Given the description of an element on the screen output the (x, y) to click on. 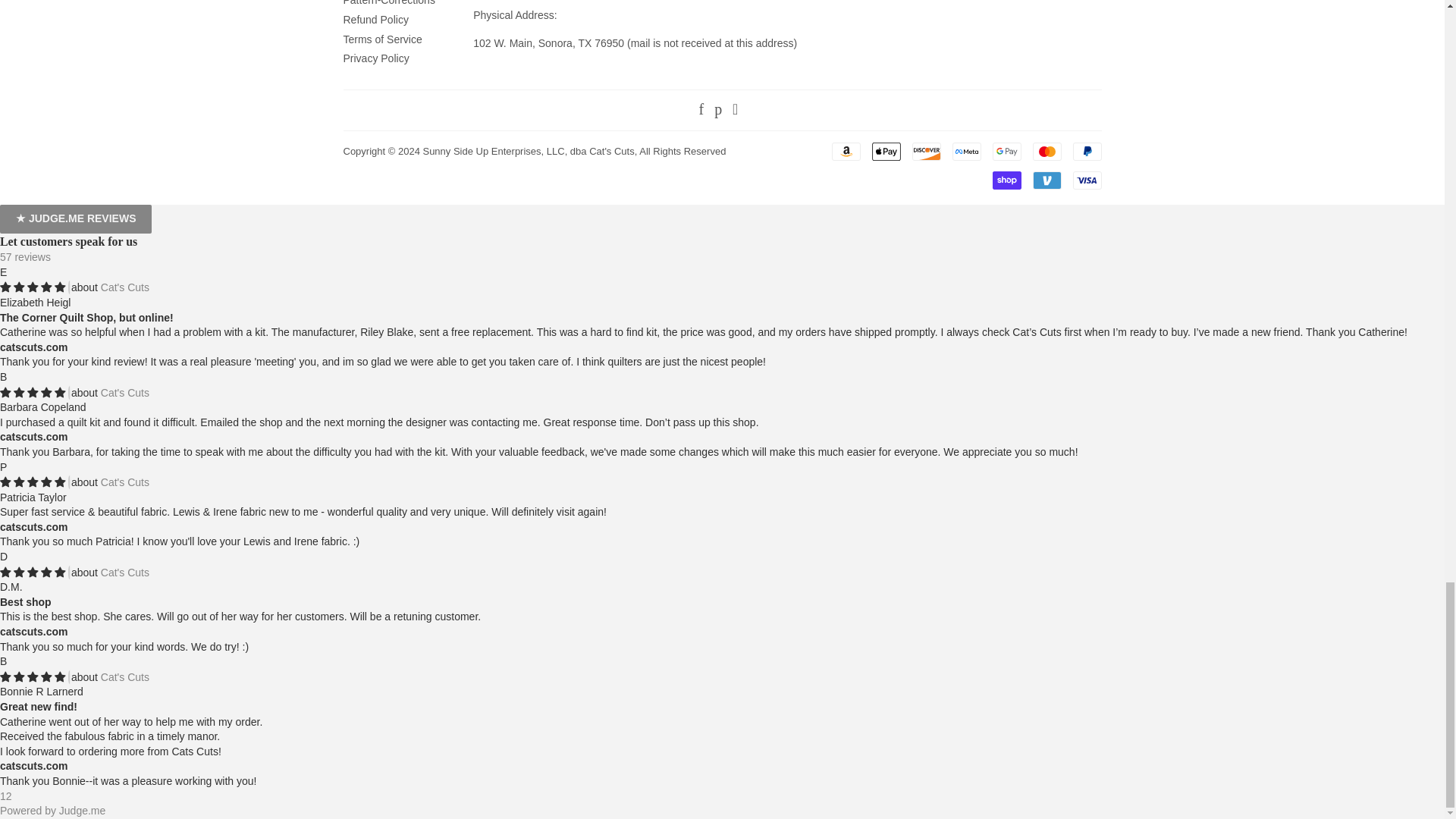
PayPal (1085, 151)
Visa (1085, 180)
Meta Pay (966, 151)
Shop Pay (1005, 180)
Google Pay (1005, 151)
Apple Pay (886, 151)
Venmo (1046, 180)
Amazon (845, 151)
Discover (925, 151)
Mastercard (1046, 151)
